Given the description of an element on the screen output the (x, y) to click on. 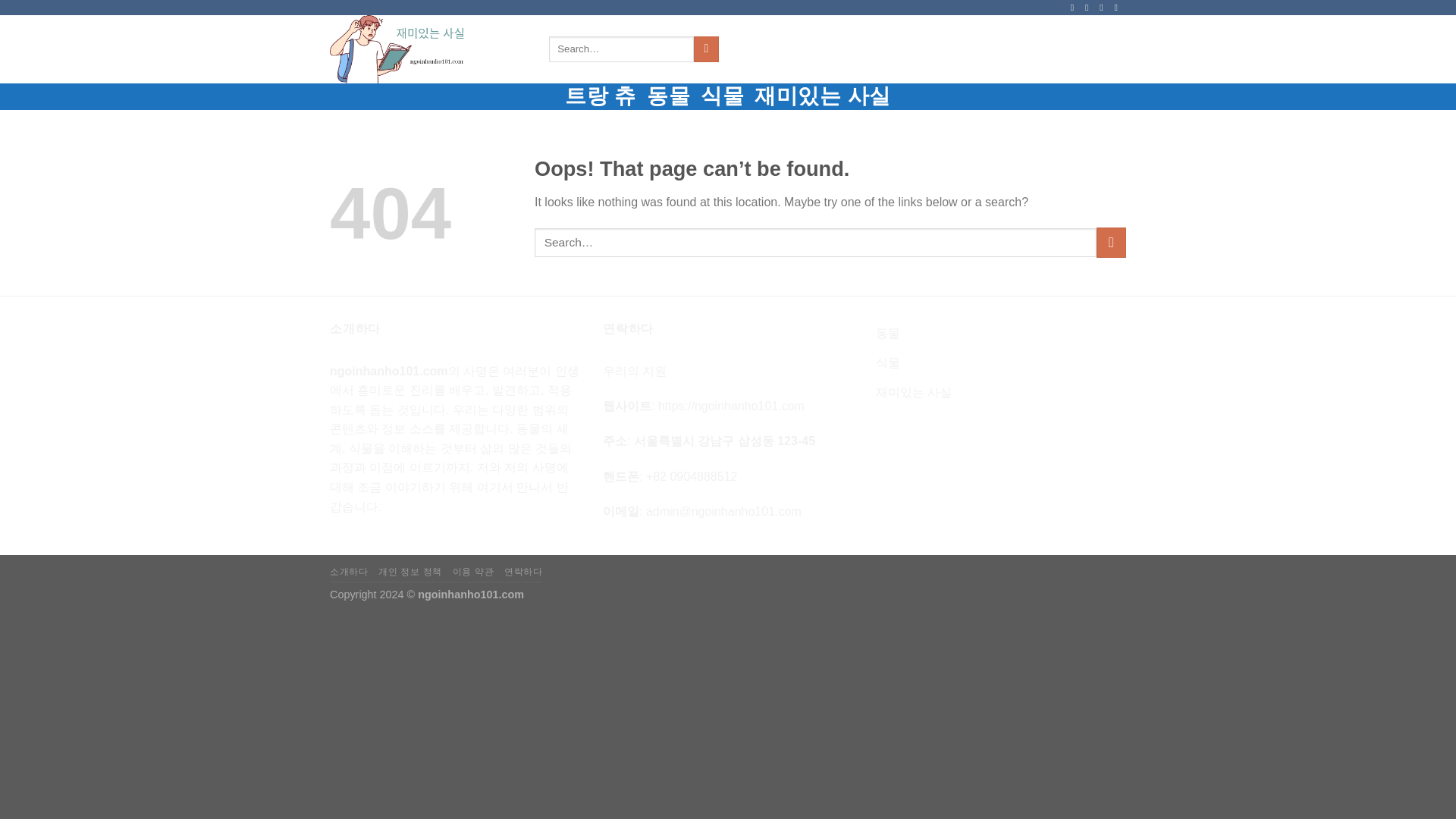
ngoinhanho101.com - ngoinhanho101.com (416, 49)
